Given the description of an element on the screen output the (x, y) to click on. 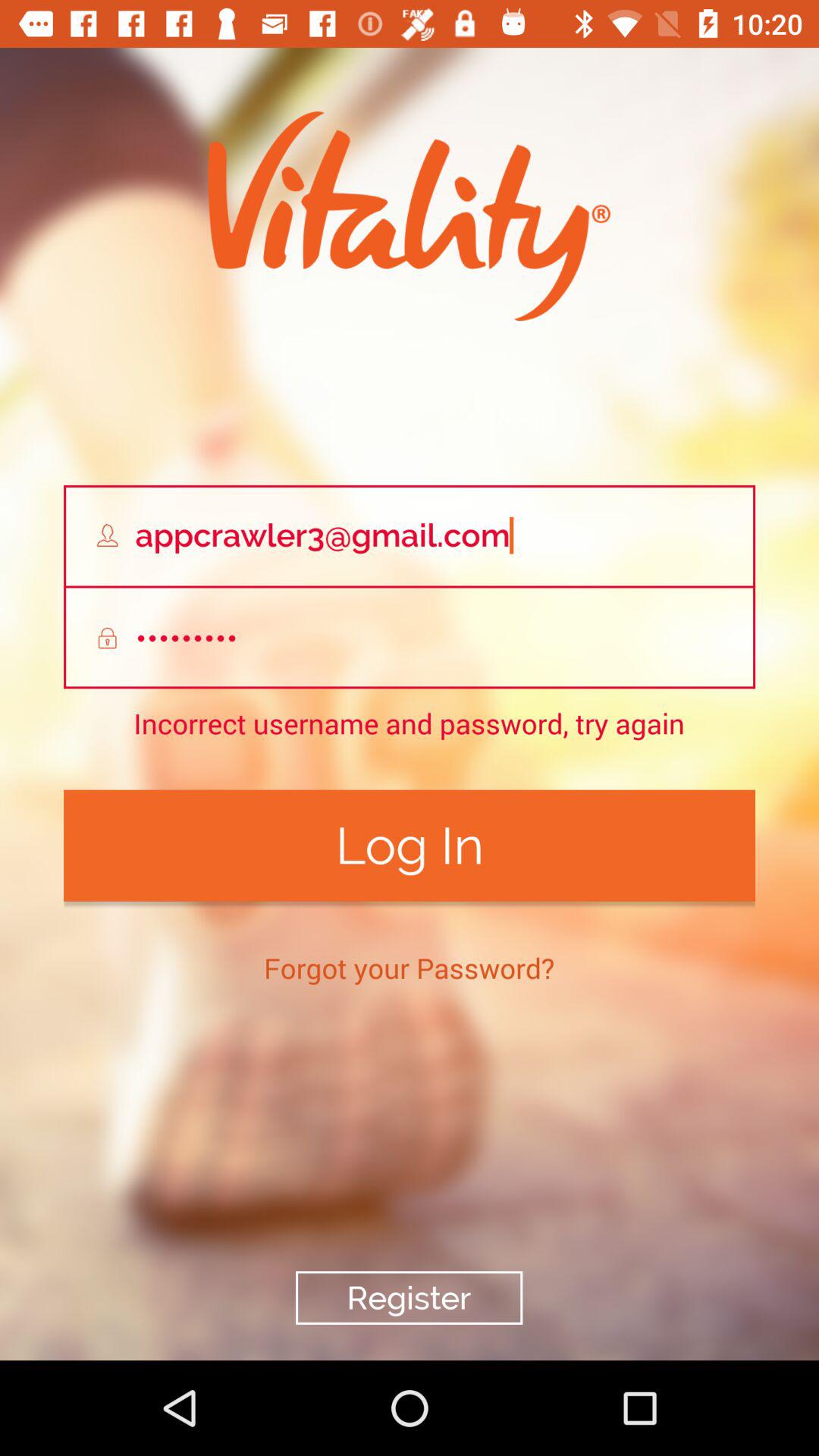
turn off icon above forgot your password? item (409, 845)
